Given the description of an element on the screen output the (x, y) to click on. 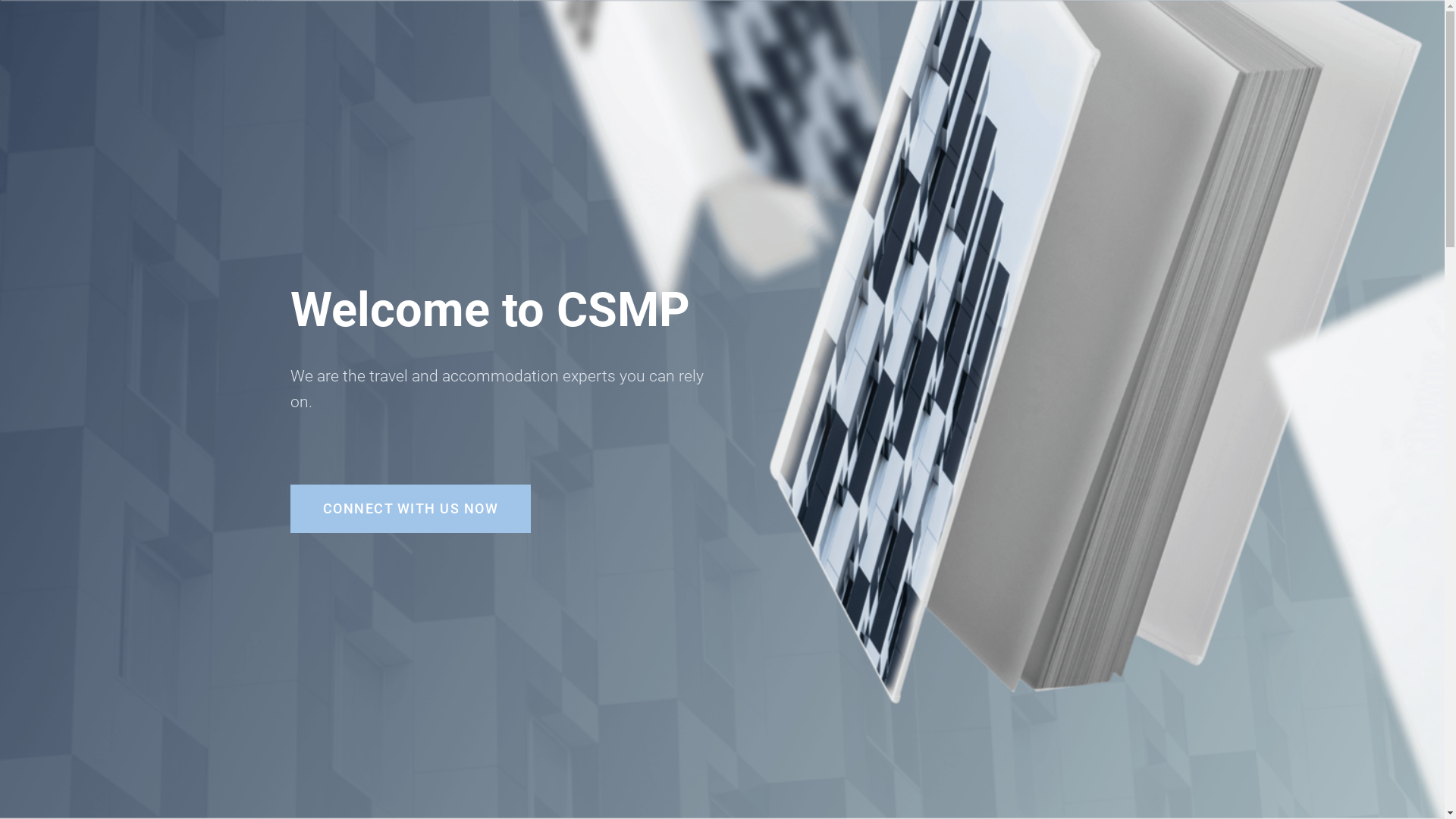
CONNECT WITH US NOW Element type: text (409, 508)
